Given the description of an element on the screen output the (x, y) to click on. 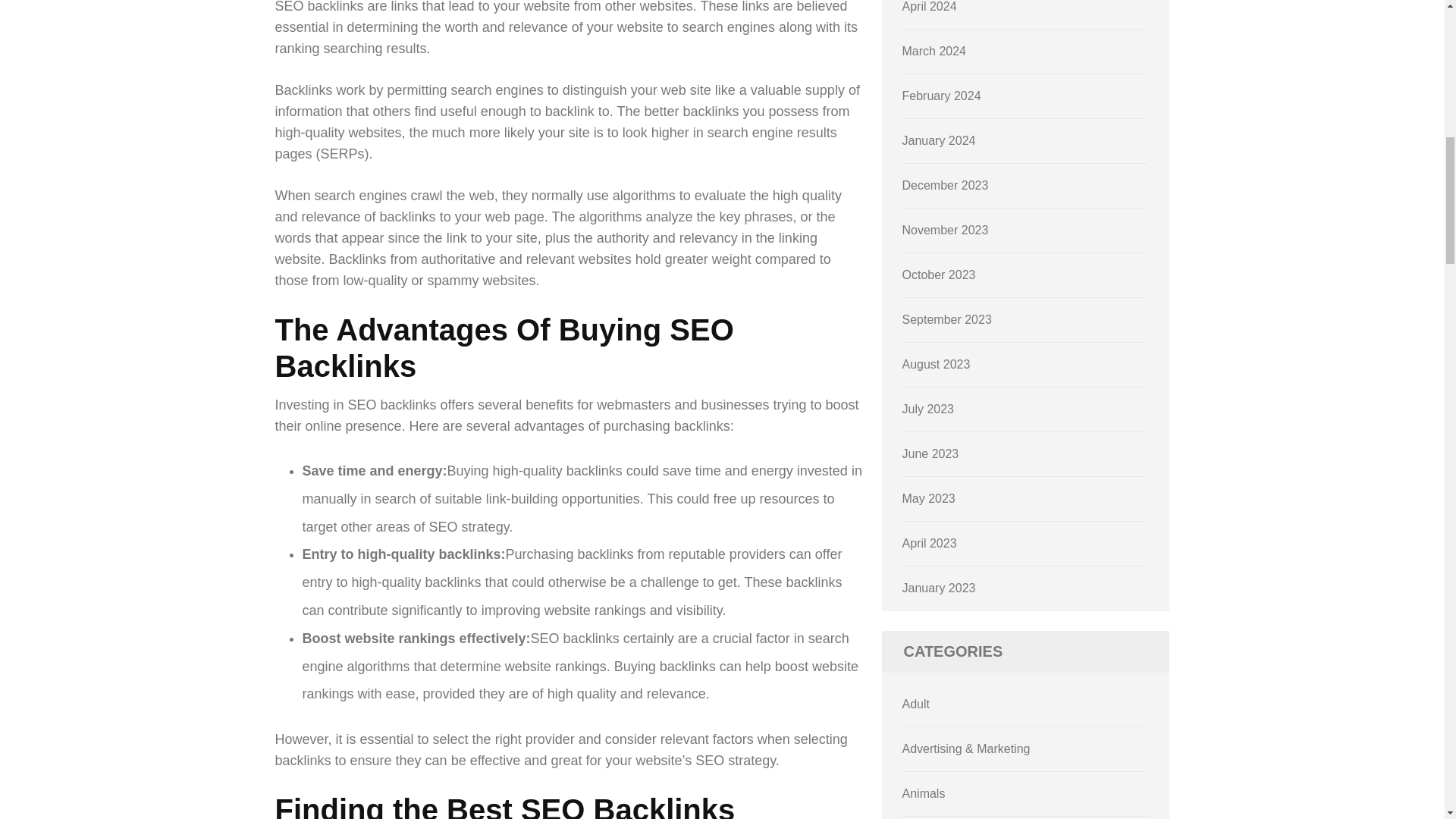
July 2023 (928, 408)
April 2023 (929, 543)
December 2023 (945, 185)
January 2024 (938, 140)
March 2024 (934, 51)
January 2023 (938, 587)
November 2023 (945, 229)
February 2024 (941, 95)
October 2023 (938, 274)
August 2023 (936, 364)
Adult (916, 703)
April 2024 (929, 6)
May 2023 (928, 498)
September 2023 (946, 318)
June 2023 (930, 453)
